Given the description of an element on the screen output the (x, y) to click on. 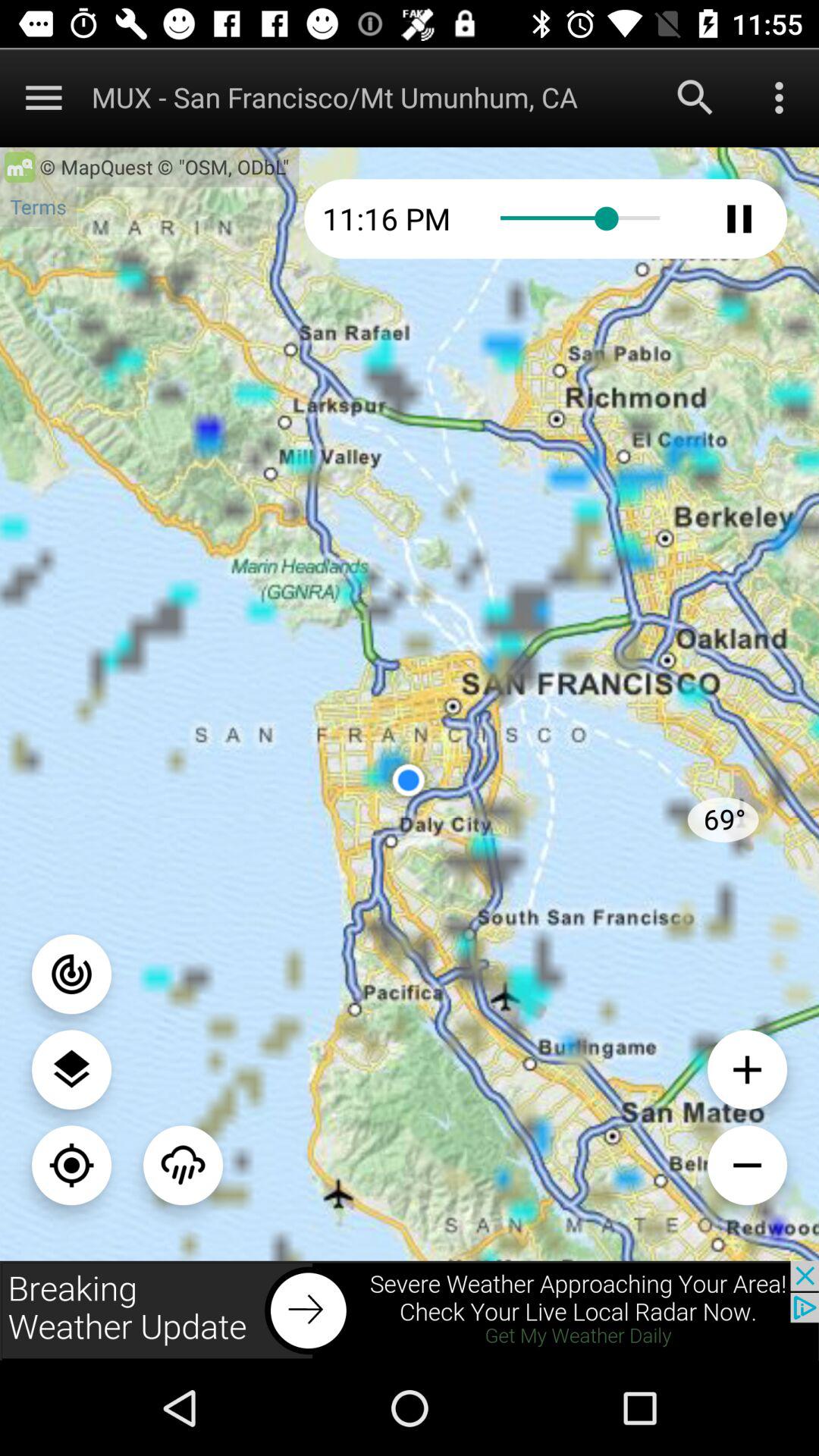
select an option (182, 1165)
